Given the description of an element on the screen output the (x, y) to click on. 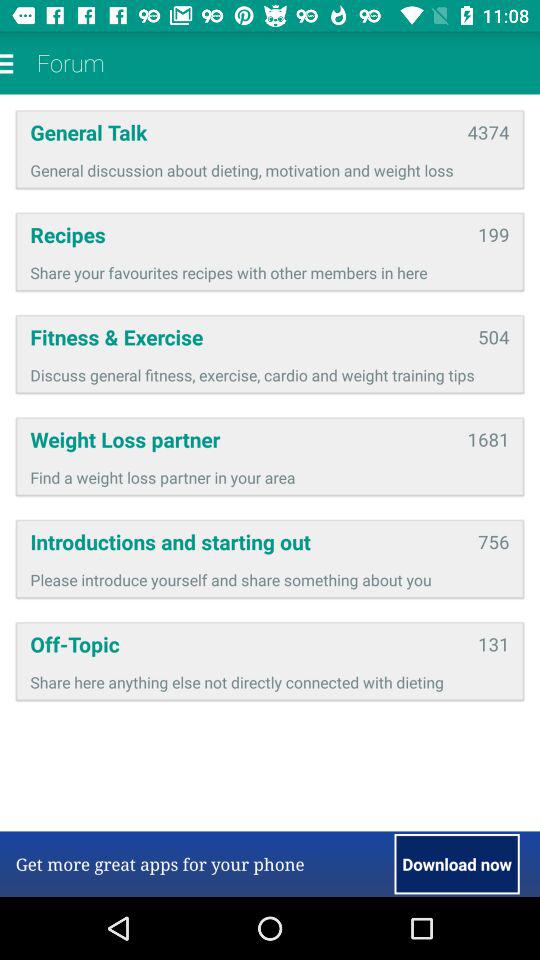
select the icon above weight loss partner app (269, 374)
